Given the description of an element on the screen output the (x, y) to click on. 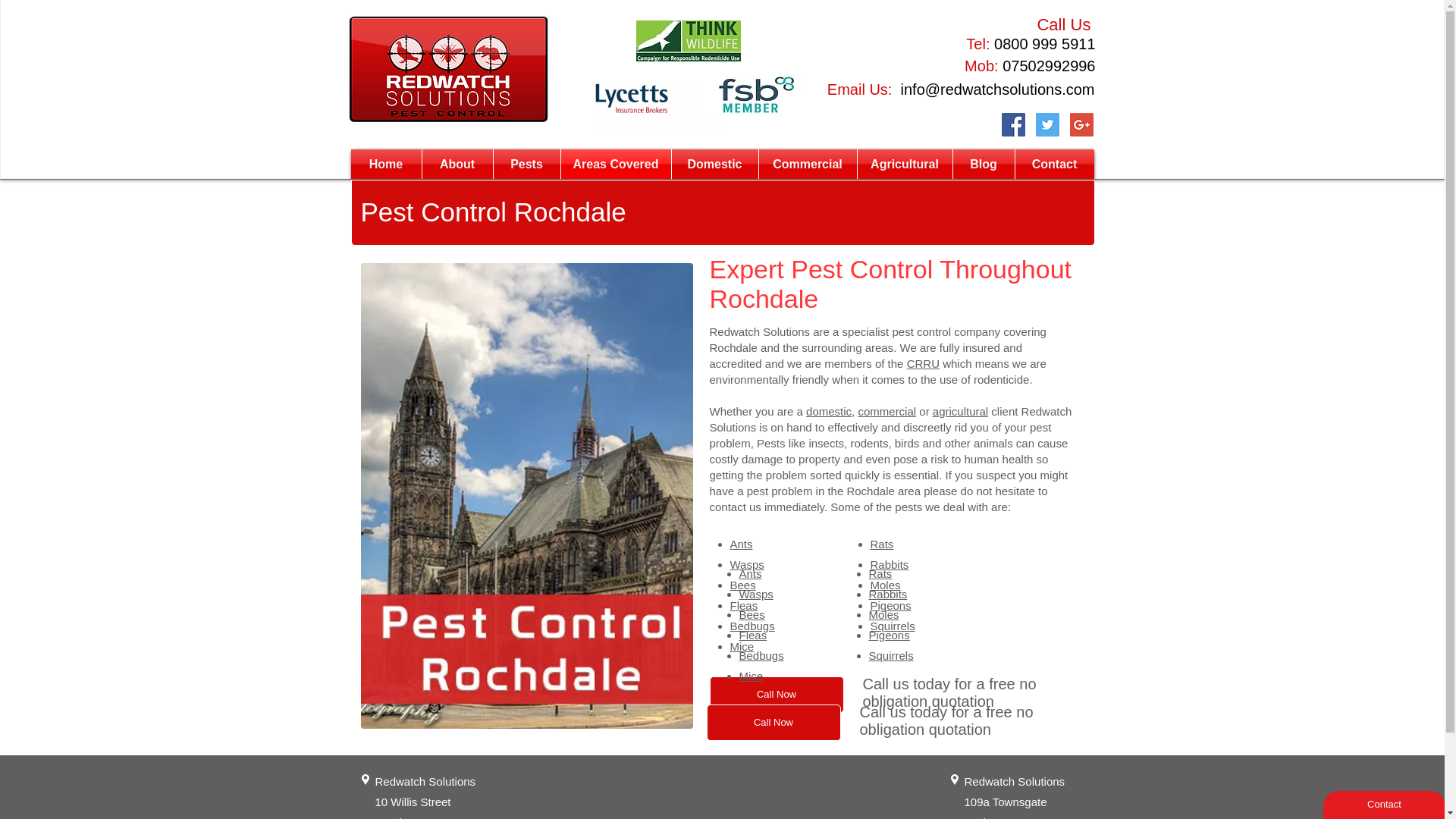
Pests (526, 164)
0800 999 5911 (1044, 44)
About (457, 164)
07502992996 (1048, 65)
Home (385, 164)
Areas Covered (615, 164)
